Given the description of an element on the screen output the (x, y) to click on. 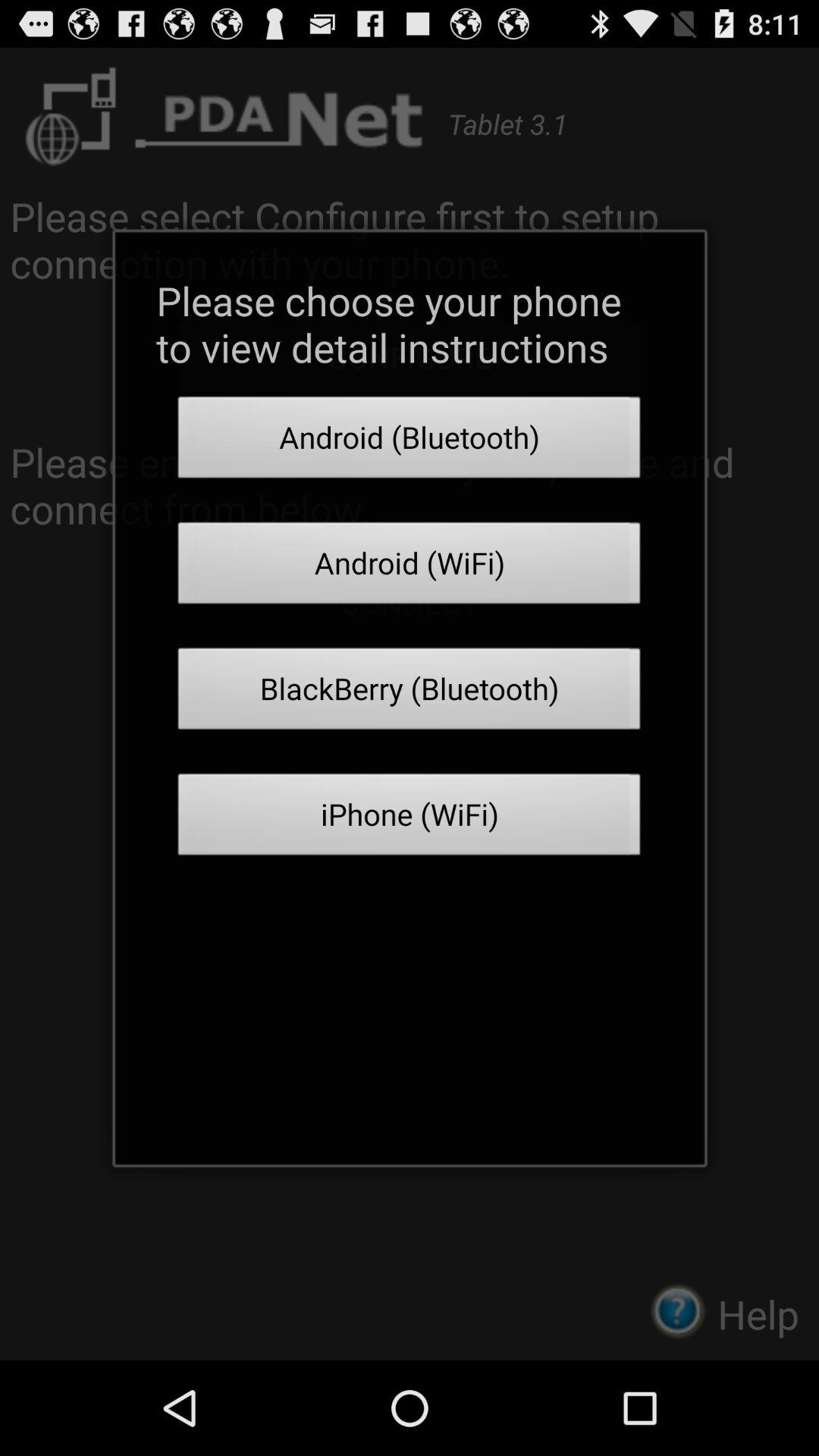
jump until android (wifi) icon (409, 567)
